Given the description of an element on the screen output the (x, y) to click on. 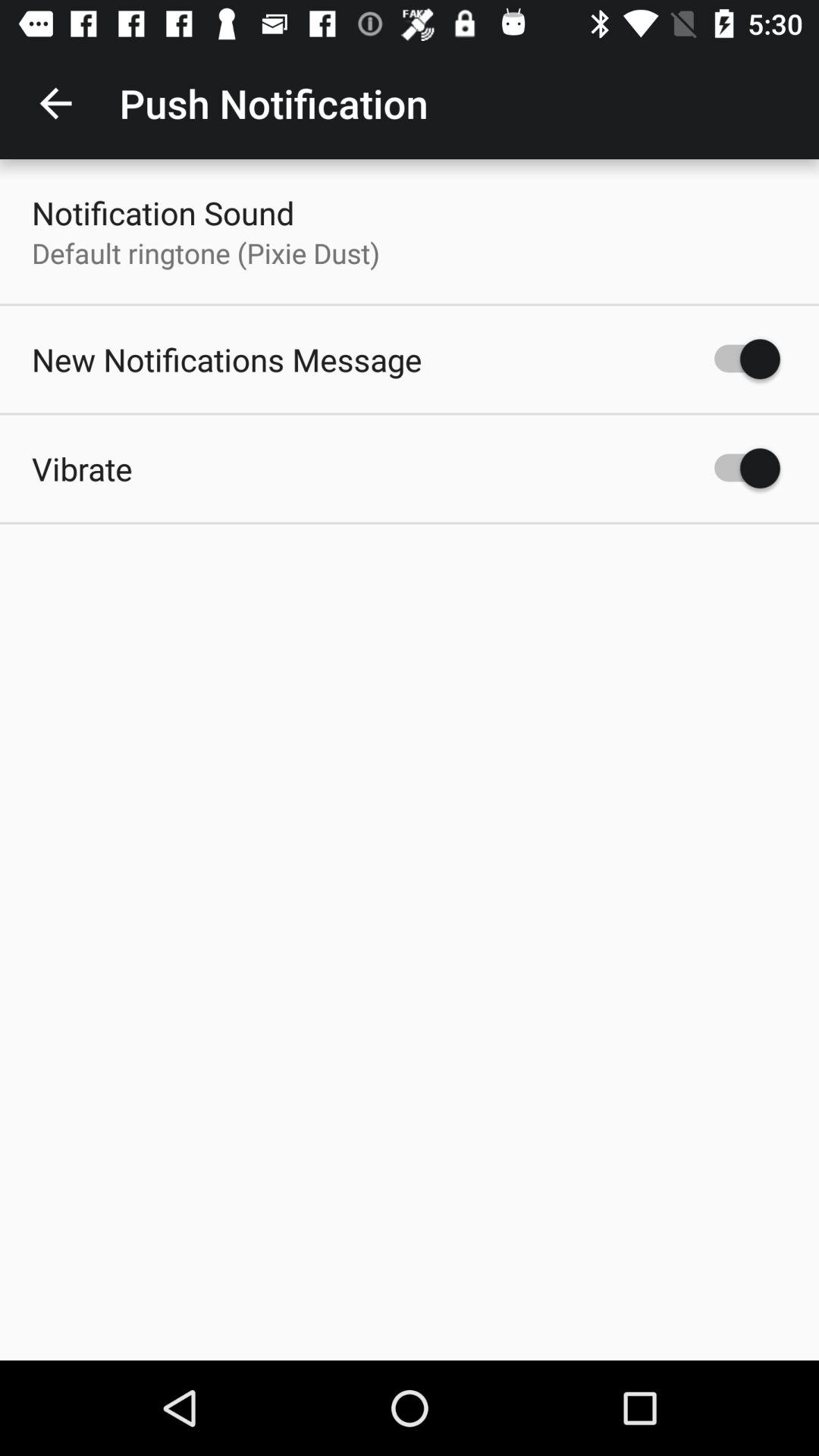
swipe to notification sound icon (162, 212)
